Given the description of an element on the screen output the (x, y) to click on. 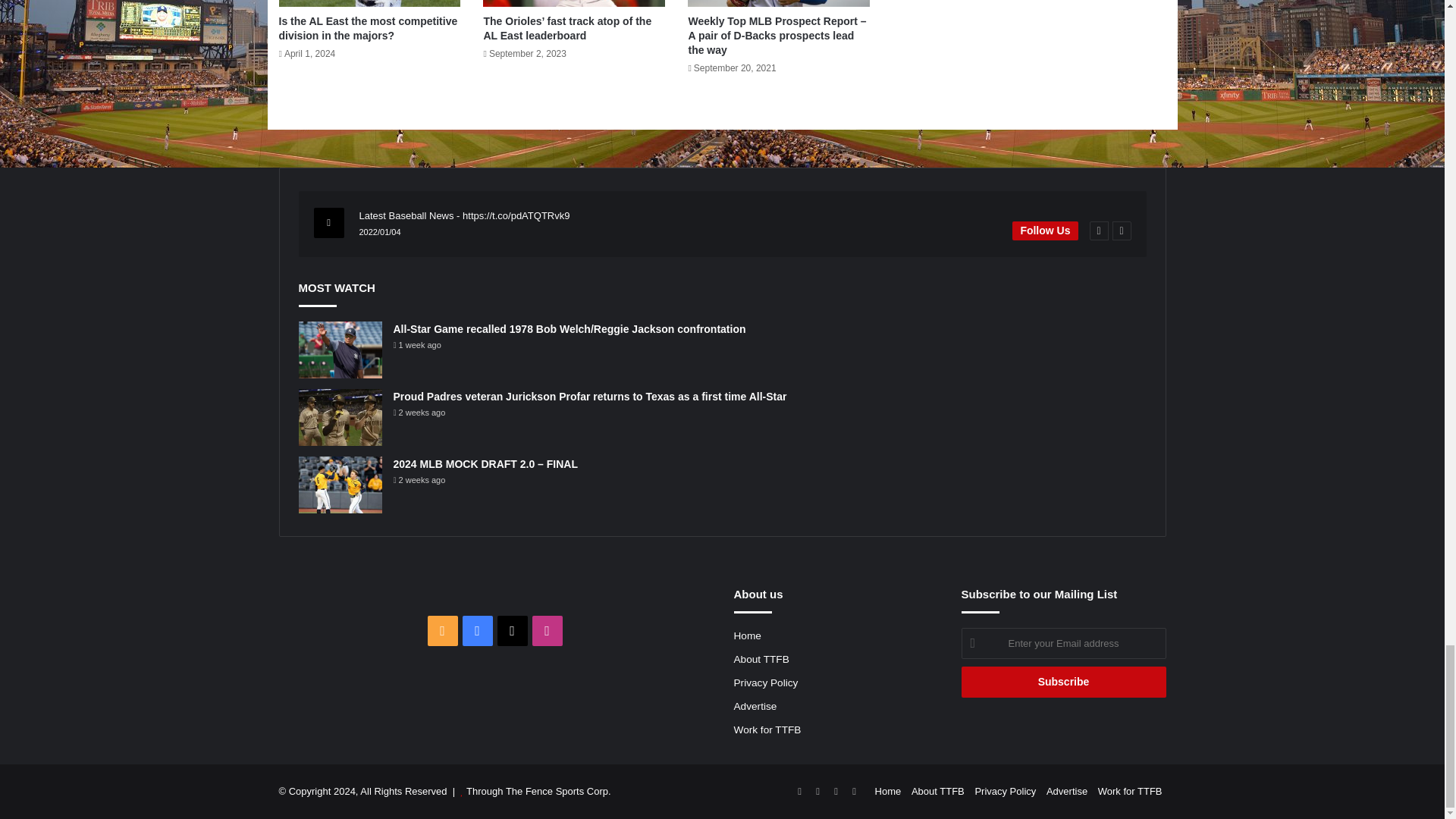
Subscribe (1063, 681)
